Given the description of an element on the screen output the (x, y) to click on. 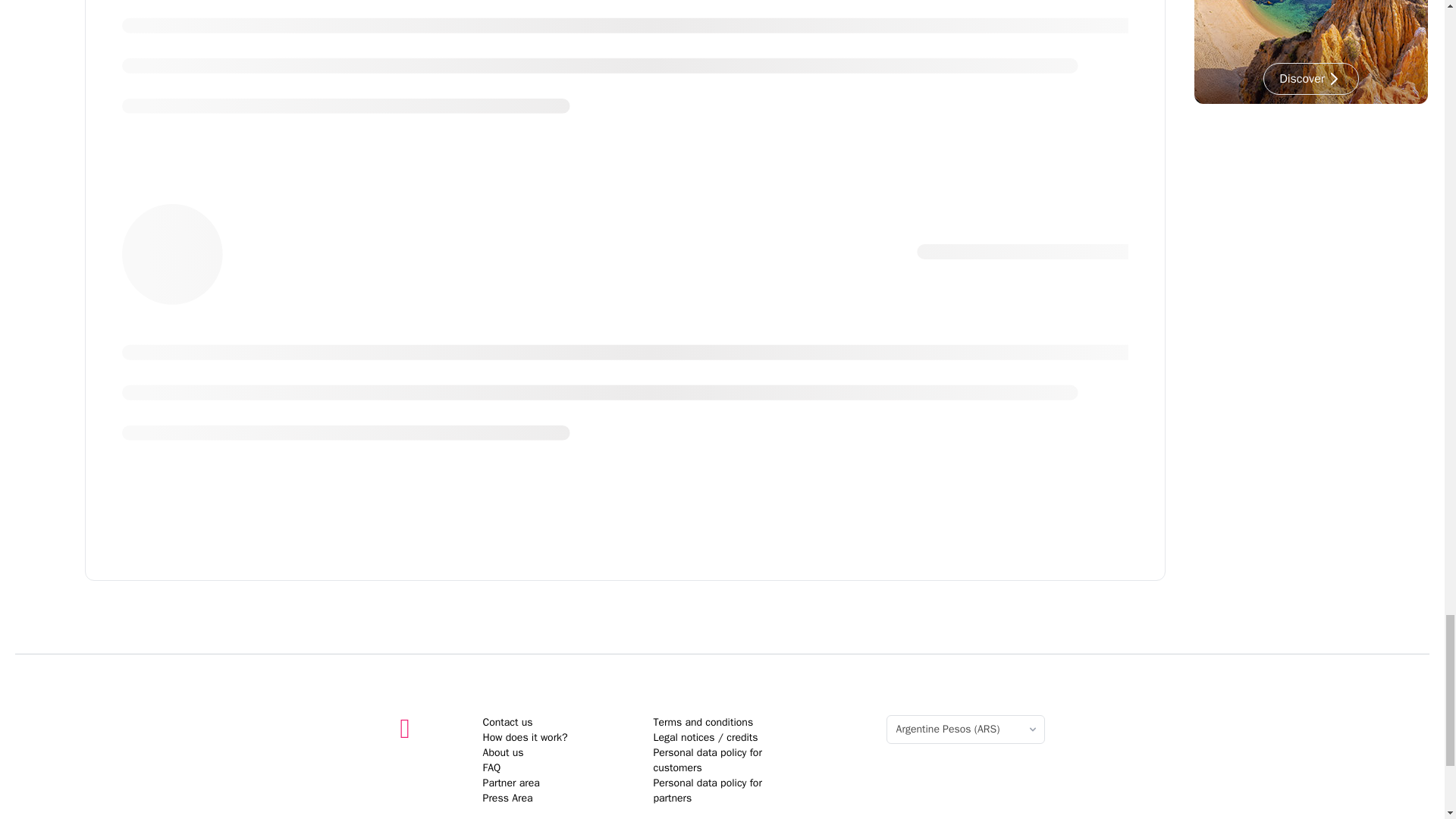
How does it work? (525, 737)
Contact us (507, 721)
